Given the description of an element on the screen output the (x, y) to click on. 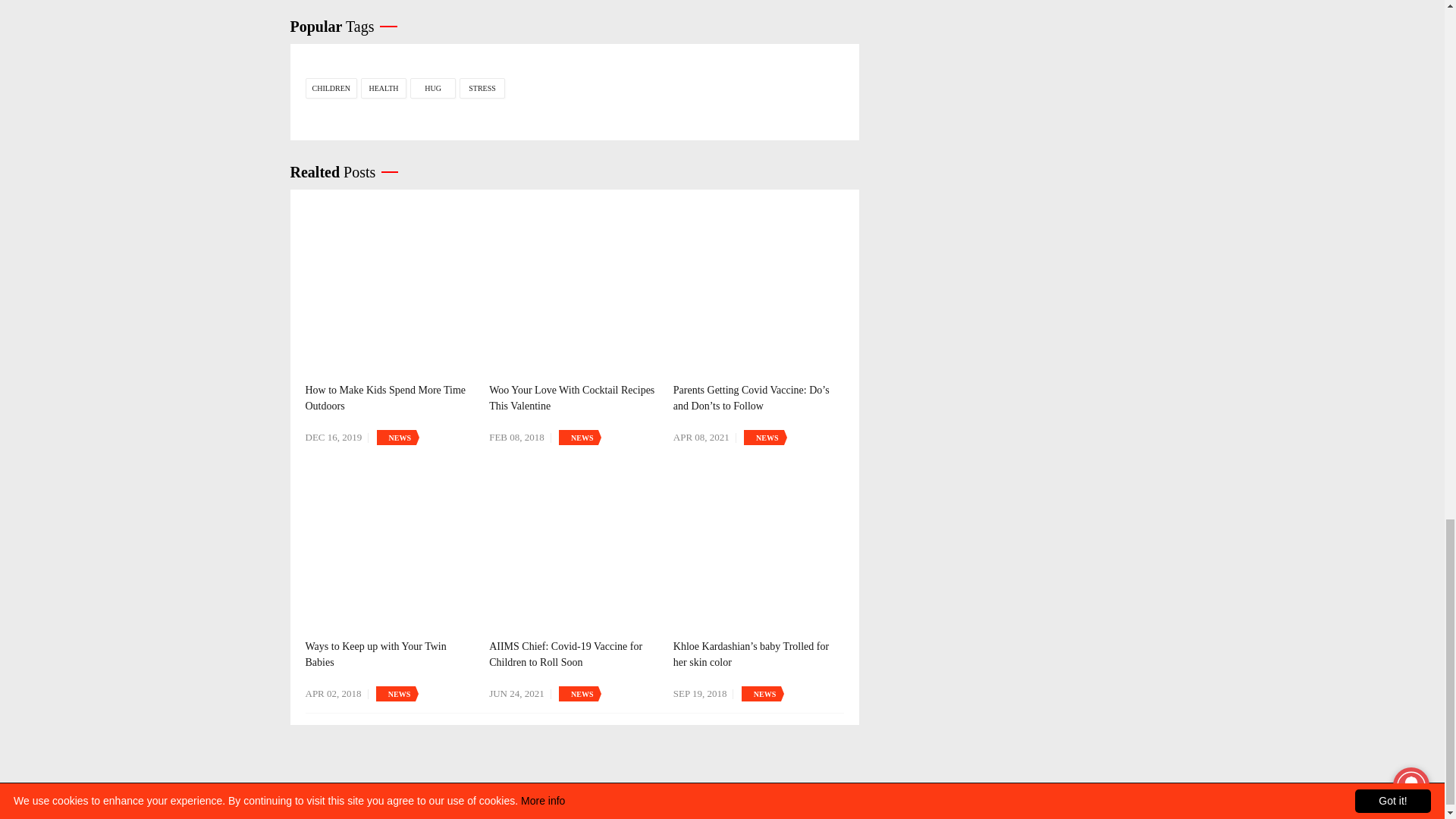
Children Tag (330, 87)
HUG (432, 87)
HEALTH (383, 87)
Health Tag (383, 87)
STRESS (482, 87)
Hug Tag (432, 87)
CHILDREN (330, 87)
Stress Tag (482, 87)
